Given the description of an element on the screen output the (x, y) to click on. 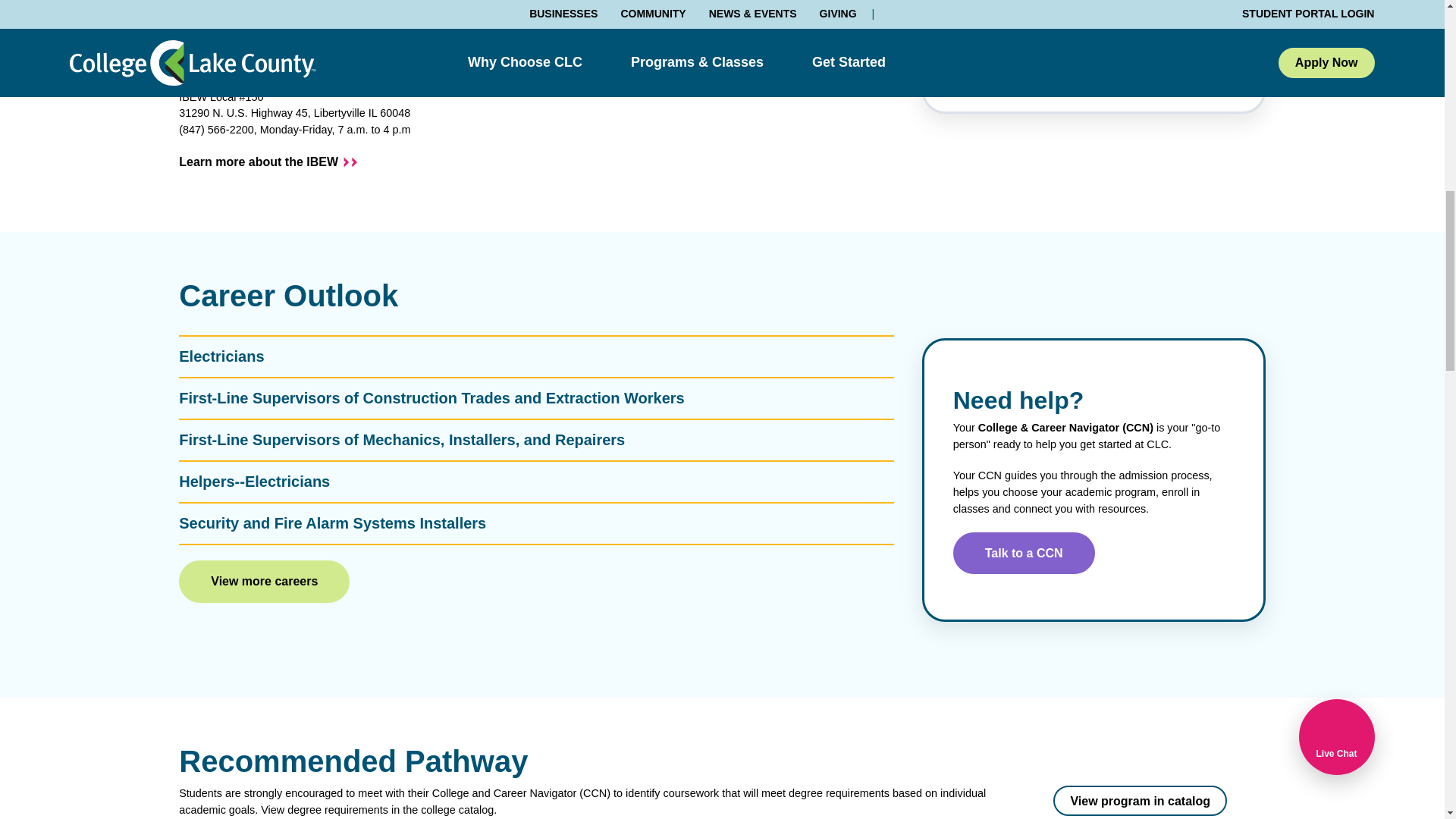
ways to pay for college (1094, 9)
Security and Fire Alarm Systems Installers (536, 523)
View more careers (264, 580)
Electricians (536, 356)
Talk to a CCN (1023, 553)
View program in catalog (1139, 800)
Helpers--Electricians (536, 481)
Learn more about the IBEW (267, 162)
